Given the description of an element on the screen output the (x, y) to click on. 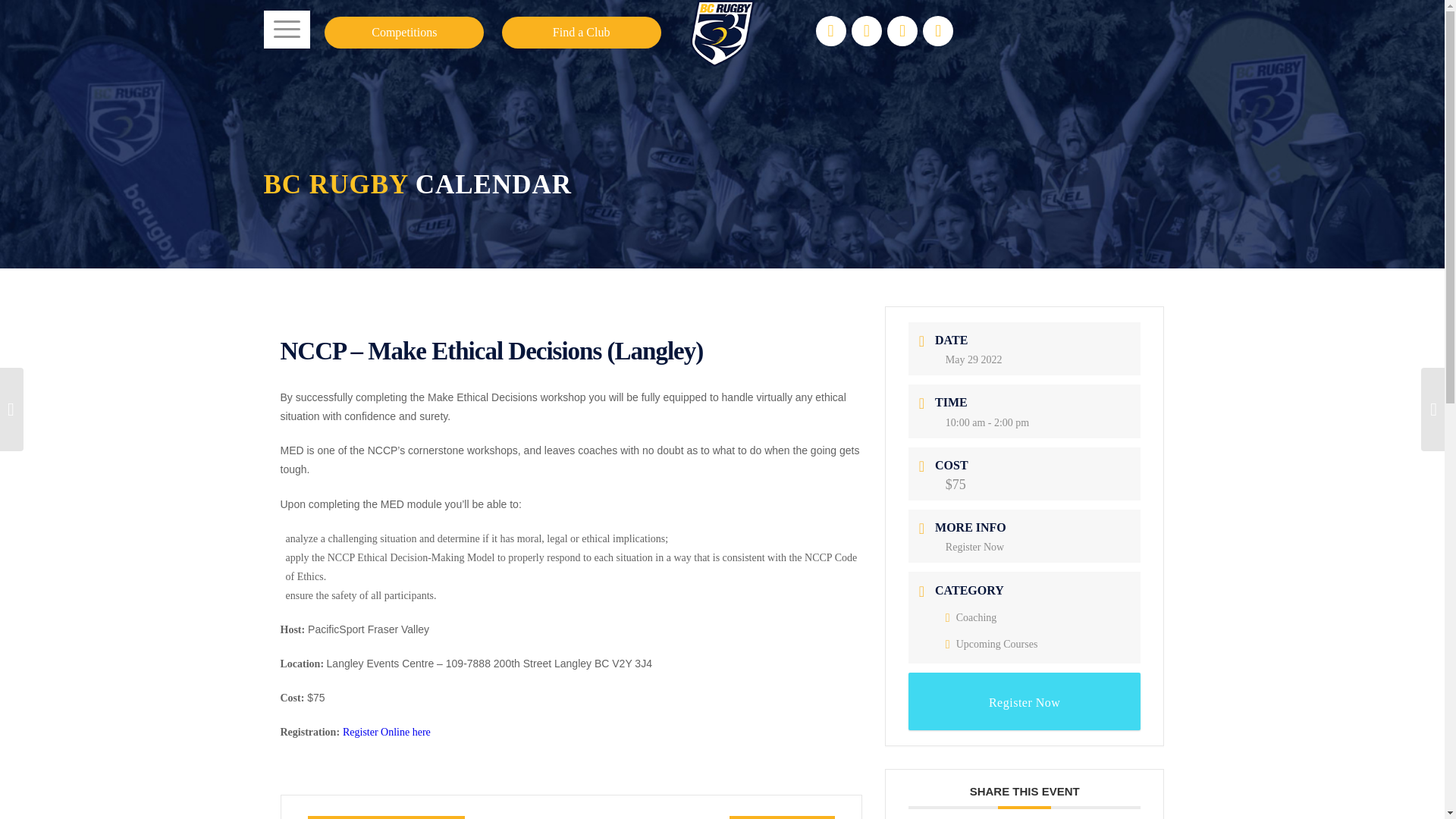
Competitions (403, 32)
main-logo (722, 33)
Find a Club (581, 32)
